Given the description of an element on the screen output the (x, y) to click on. 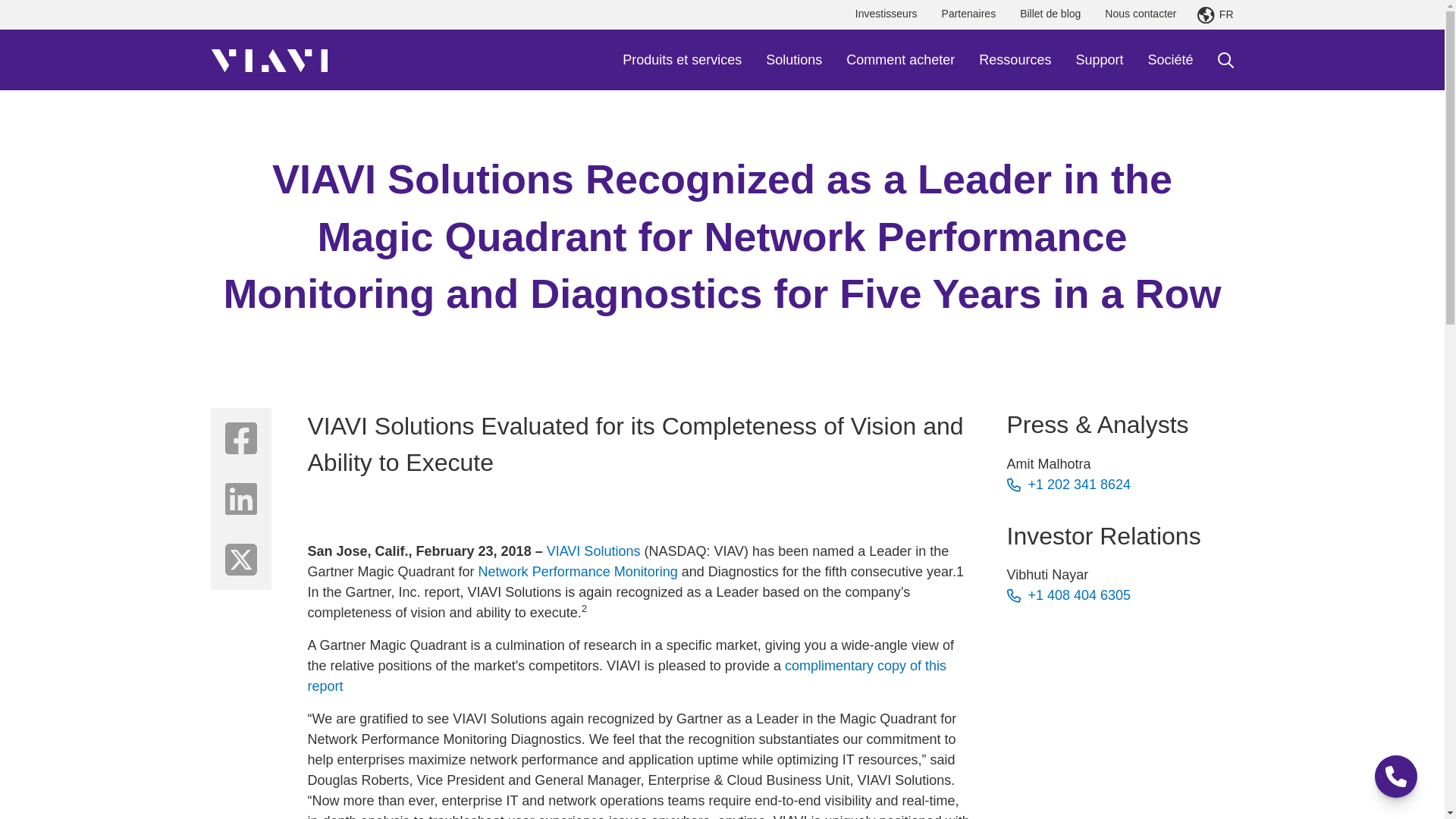
VIAVI Solutions (269, 59)
Nous contacter (1140, 14)
Partenaires (969, 14)
Network Performance Monitoring (578, 571)
Billet de blog (1050, 14)
Produits et services (682, 60)
FR (1214, 15)
Investisseurs (886, 14)
